Given the description of an element on the screen output the (x, y) to click on. 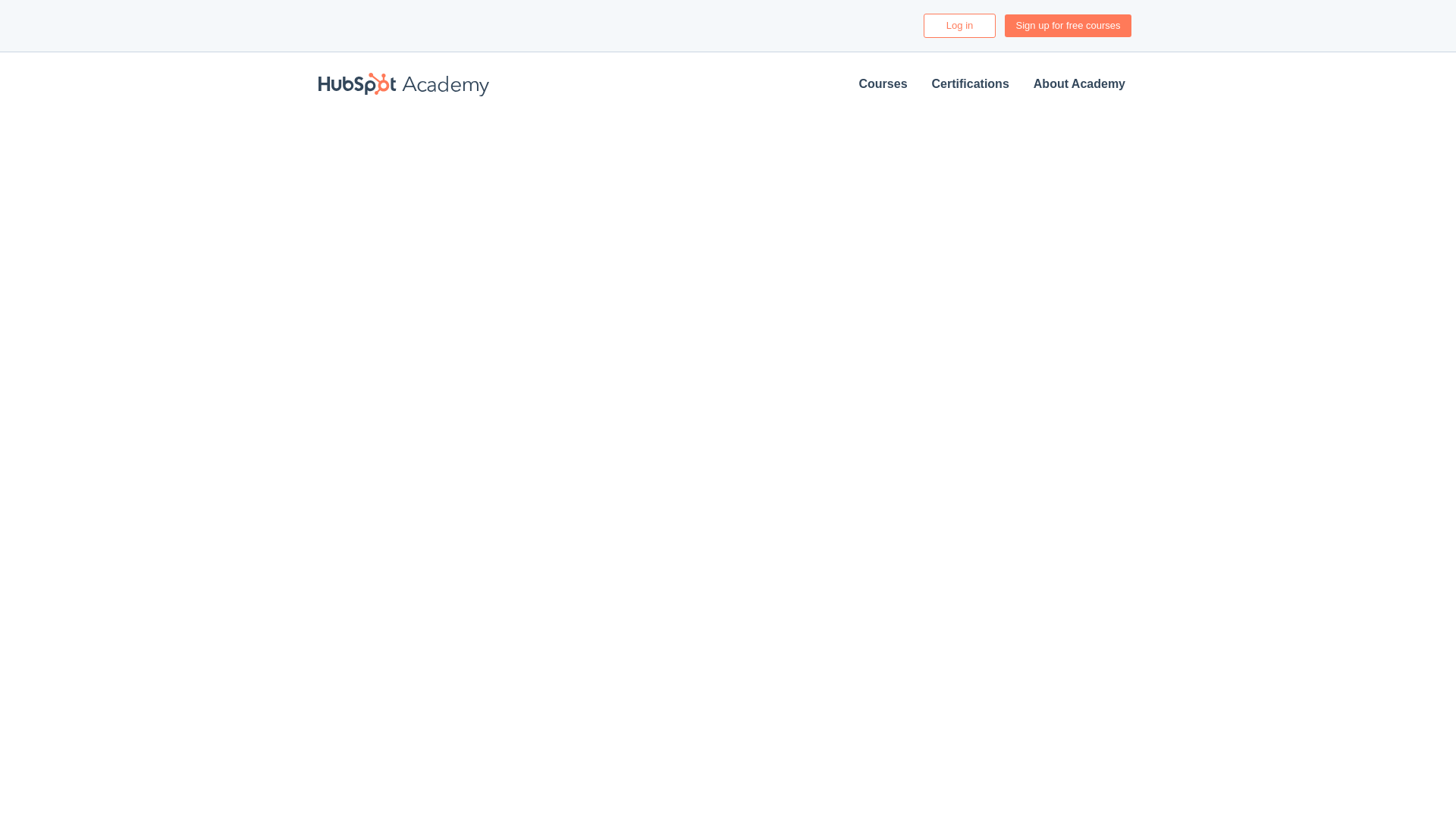
Sign up for free courses (1067, 25)
Courses (883, 84)
About Academy (1079, 84)
Certifications (971, 84)
Log in (958, 25)
